Given the description of an element on the screen output the (x, y) to click on. 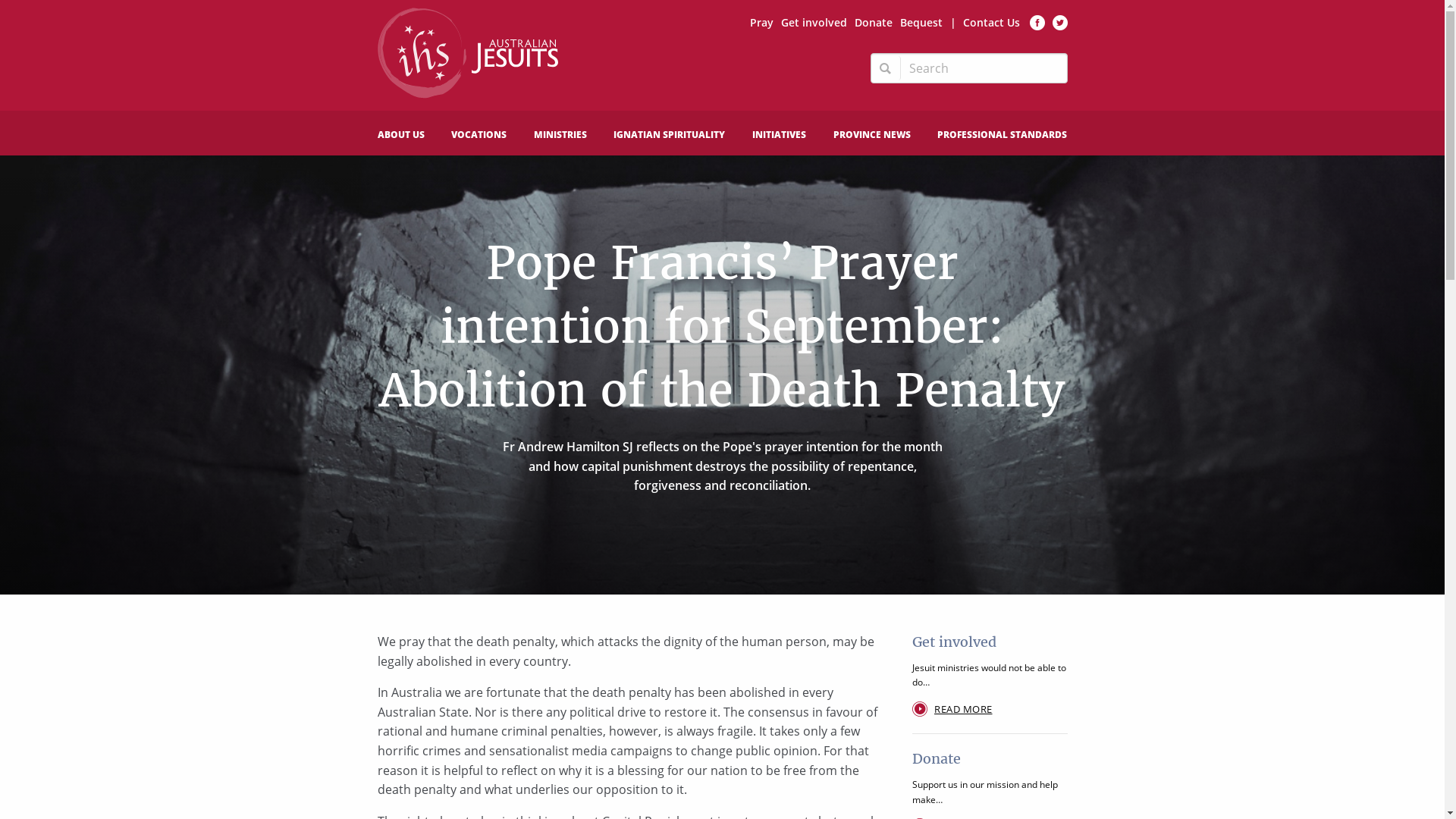
Search Element type: hover (885, 68)
PROVINCE NEWS Element type: text (871, 137)
IGNATIAN SPIRITUALITY Element type: text (668, 137)
Pray Element type: text (760, 22)
Get involved Element type: text (814, 22)
Contact Us Element type: text (991, 22)
Facebook Element type: text (1036, 22)
Twitter Element type: text (1059, 22)
ABOUT US Element type: text (400, 137)
MINISTRIES Element type: text (559, 137)
INITIATIVES Element type: text (779, 137)
VOCATIONS Element type: text (478, 137)
PROFESSIONAL STANDARDS Element type: text (1001, 137)
Bequest Element type: text (920, 22)
Donate Element type: text (872, 22)
